Given the description of an element on the screen output the (x, y) to click on. 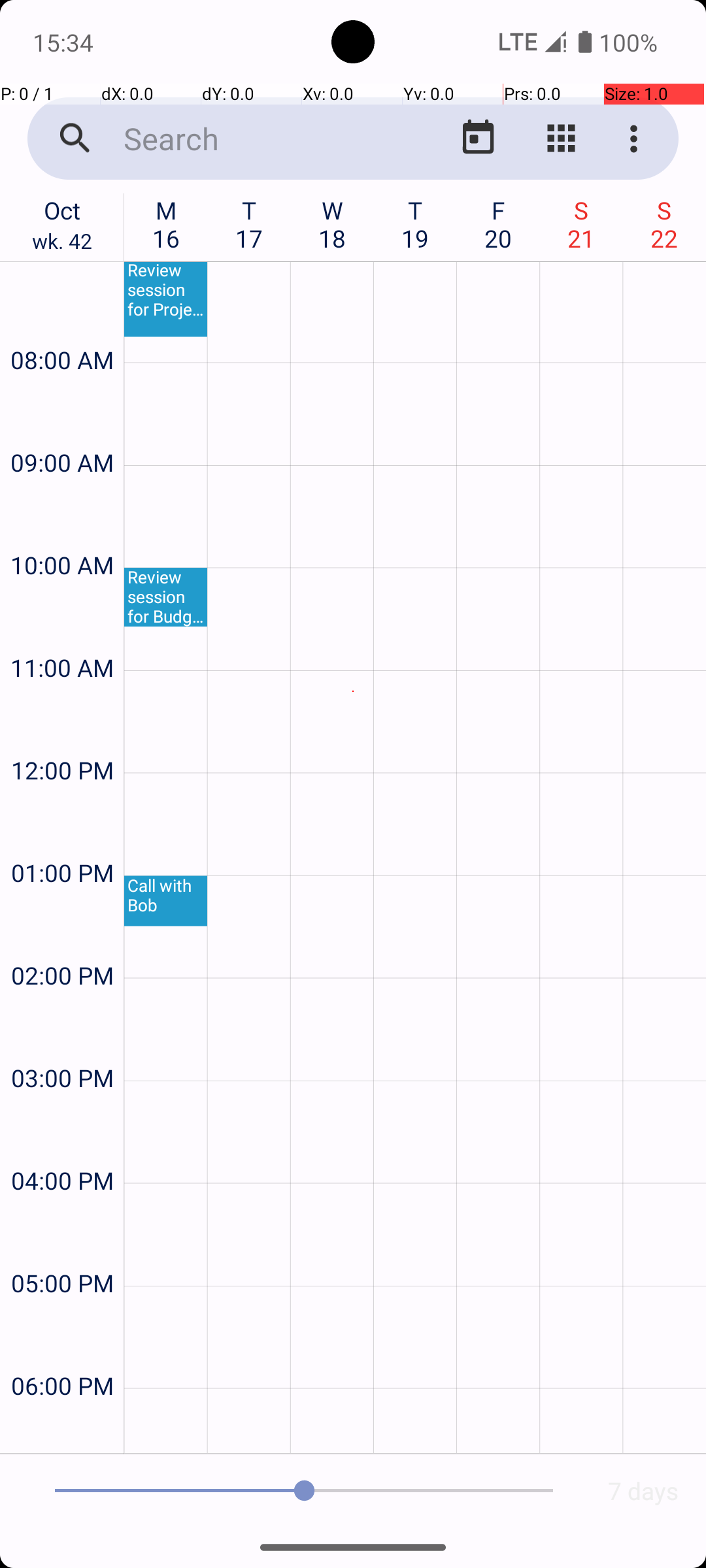
wk. 42 Element type: android.widget.TextView (62, 243)
7 days Element type: android.widget.TextView (642, 1490)
08:00 AM Element type: android.widget.TextView (62, 324)
09:00 AM Element type: android.widget.TextView (62, 427)
10:00 AM Element type: android.widget.TextView (62, 529)
11:00 AM Element type: android.widget.TextView (62, 632)
12:00 PM Element type: android.widget.TextView (62, 735)
01:00 PM Element type: android.widget.TextView (62, 837)
02:00 PM Element type: android.widget.TextView (62, 940)
03:00 PM Element type: android.widget.TextView (62, 1042)
04:00 PM Element type: android.widget.TextView (62, 1145)
05:00 PM Element type: android.widget.TextView (62, 1247)
06:00 PM Element type: android.widget.TextView (62, 1350)
07:00 PM Element type: android.widget.TextView (62, 1428)
M
16 Element type: android.widget.TextView (165, 223)
T
17 Element type: android.widget.TextView (248, 223)
W
18 Element type: android.widget.TextView (331, 223)
T
19 Element type: android.widget.TextView (414, 223)
F
20 Element type: android.widget.TextView (497, 223)
S
21 Element type: android.widget.TextView (580, 223)
S
22 Element type: android.widget.TextView (664, 223)
Review session for Project X Element type: android.widget.TextView (165, 299)
Call with Bob Element type: android.widget.TextView (165, 901)
